Given the description of an element on the screen output the (x, y) to click on. 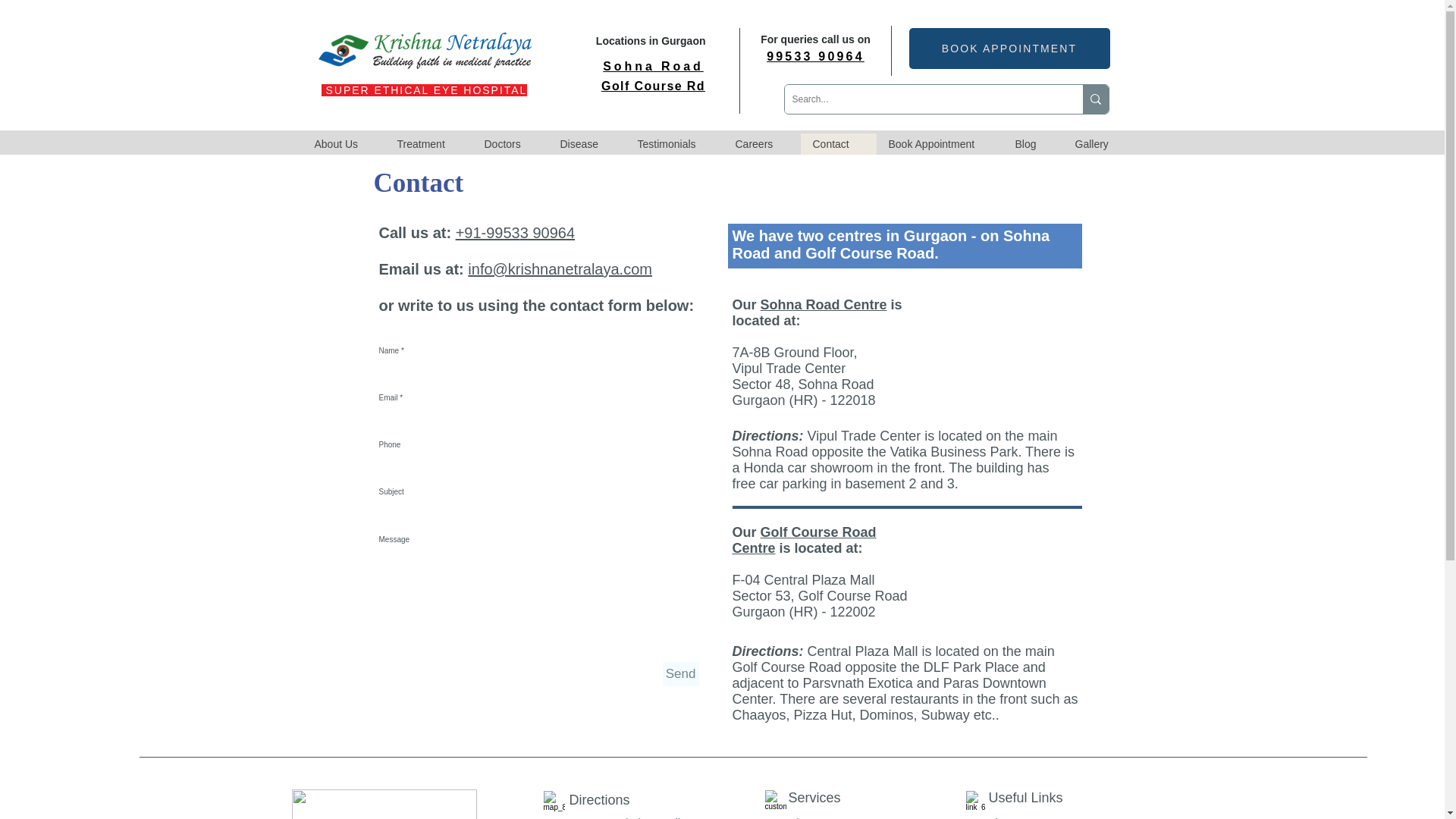
Book Appointment (939, 143)
99533 90964 (815, 56)
BOOK APPOINTMENT (1008, 47)
Krishna Netralaya - Best Eye Hospital in Gurgaon (424, 51)
Disease (585, 143)
Golf Course Rd (652, 86)
Blog (1032, 143)
Testimonials (673, 143)
Doctors (509, 143)
Contact (838, 143)
Send (680, 673)
Blogs (1001, 817)
Sohna Road (652, 66)
Glaucoma (813, 817)
Careers (761, 143)
